Given the description of an element on the screen output the (x, y) to click on. 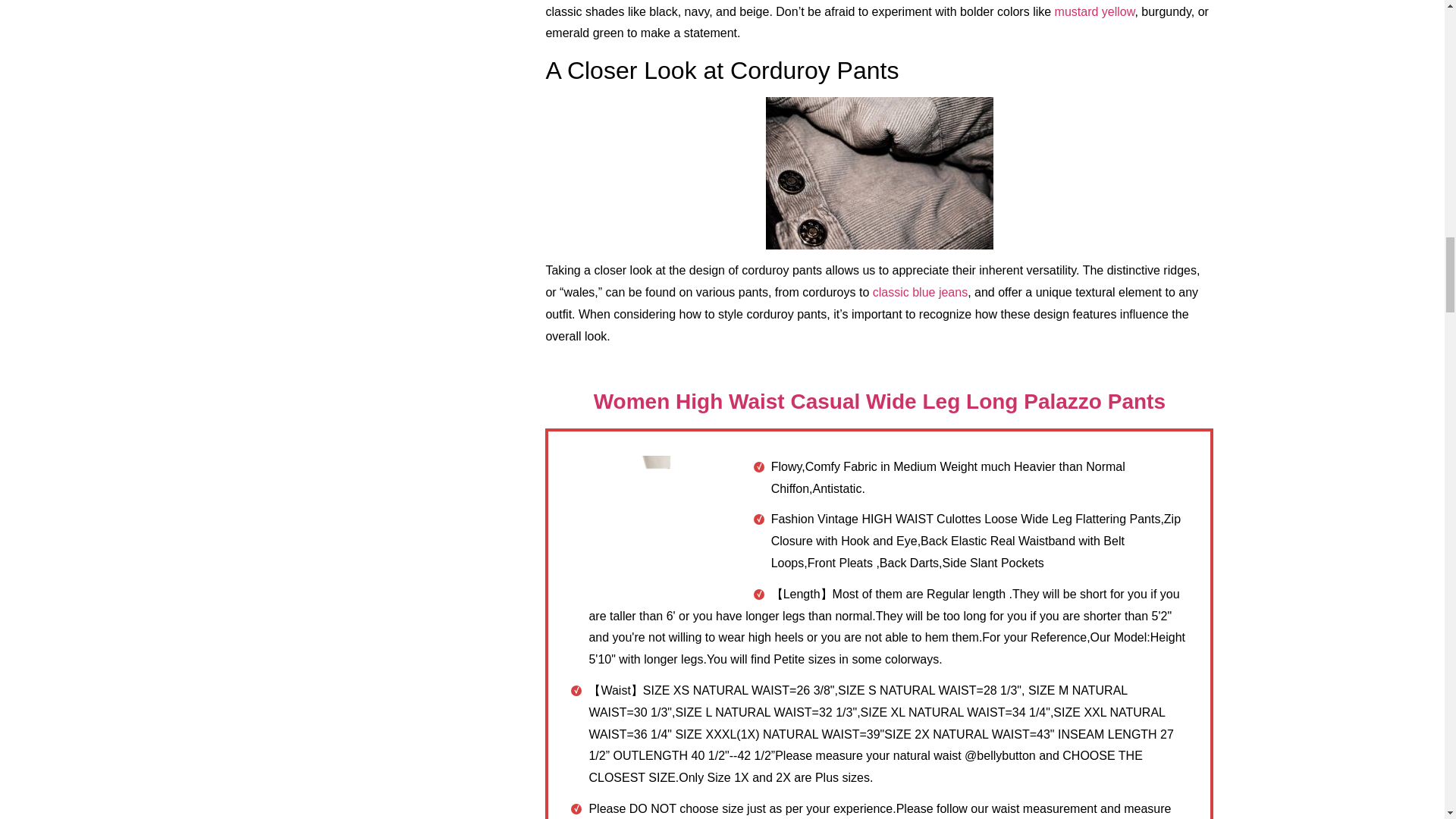
classic blue jeans (920, 291)
mustard yellow (1094, 11)
Women High Waist Casual Wide Leg Long Palazzo Pants (880, 401)
